Given the description of an element on the screen output the (x, y) to click on. 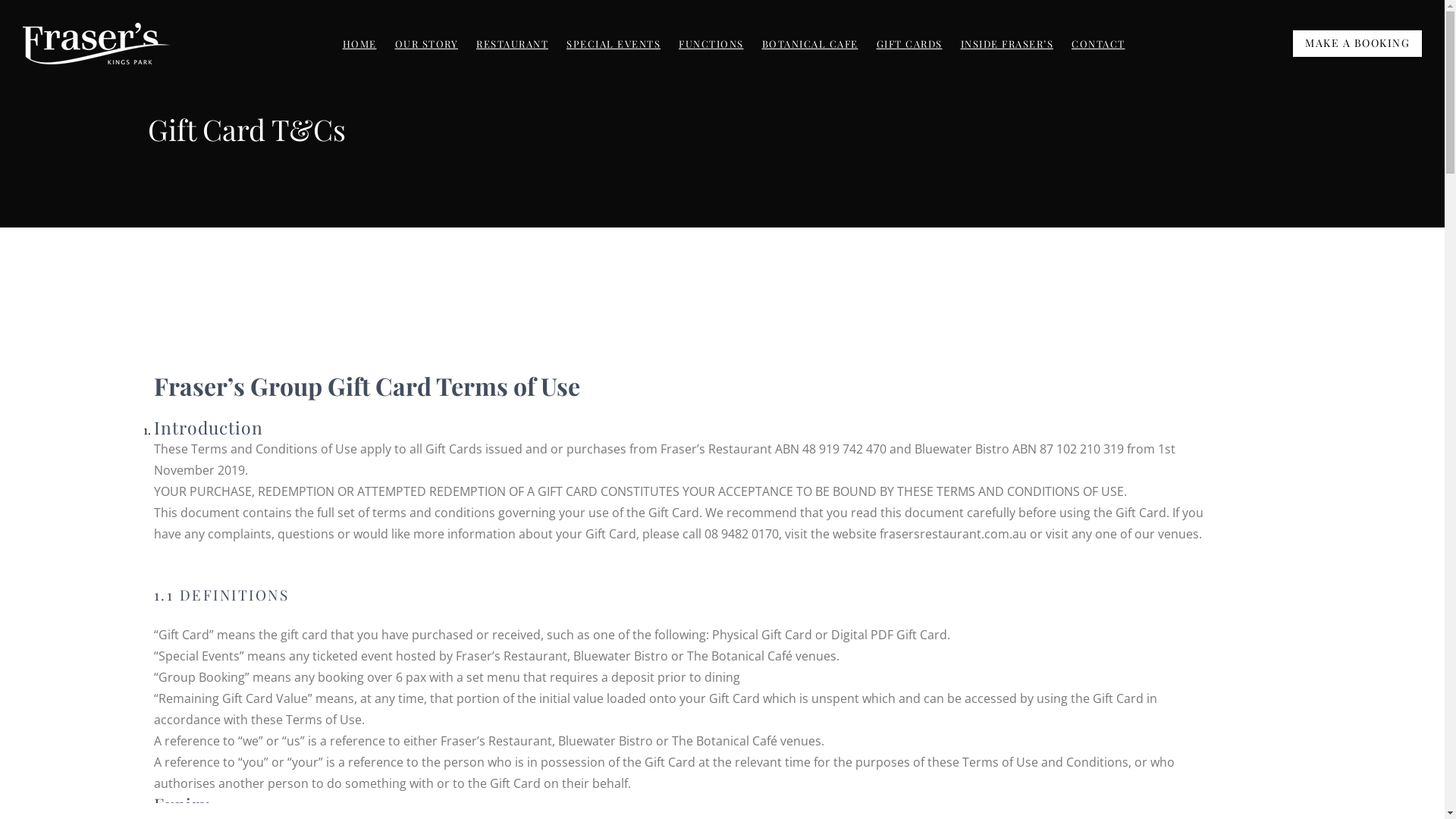
GIFT CARDS Element type: text (909, 43)
RESTAURANT Element type: text (512, 43)
FUNCTIONS Element type: text (711, 43)
Fraser's Restaurant Element type: text (128, 87)
CONTACT Element type: text (1098, 43)
BOTANICAL CAFE Element type: text (809, 43)
SPECIAL EVENTS Element type: text (613, 43)
MAKE A BOOKING Element type: text (1356, 43)
OUR STORY Element type: text (426, 43)
HOME Element type: text (359, 43)
